Given the description of an element on the screen output the (x, y) to click on. 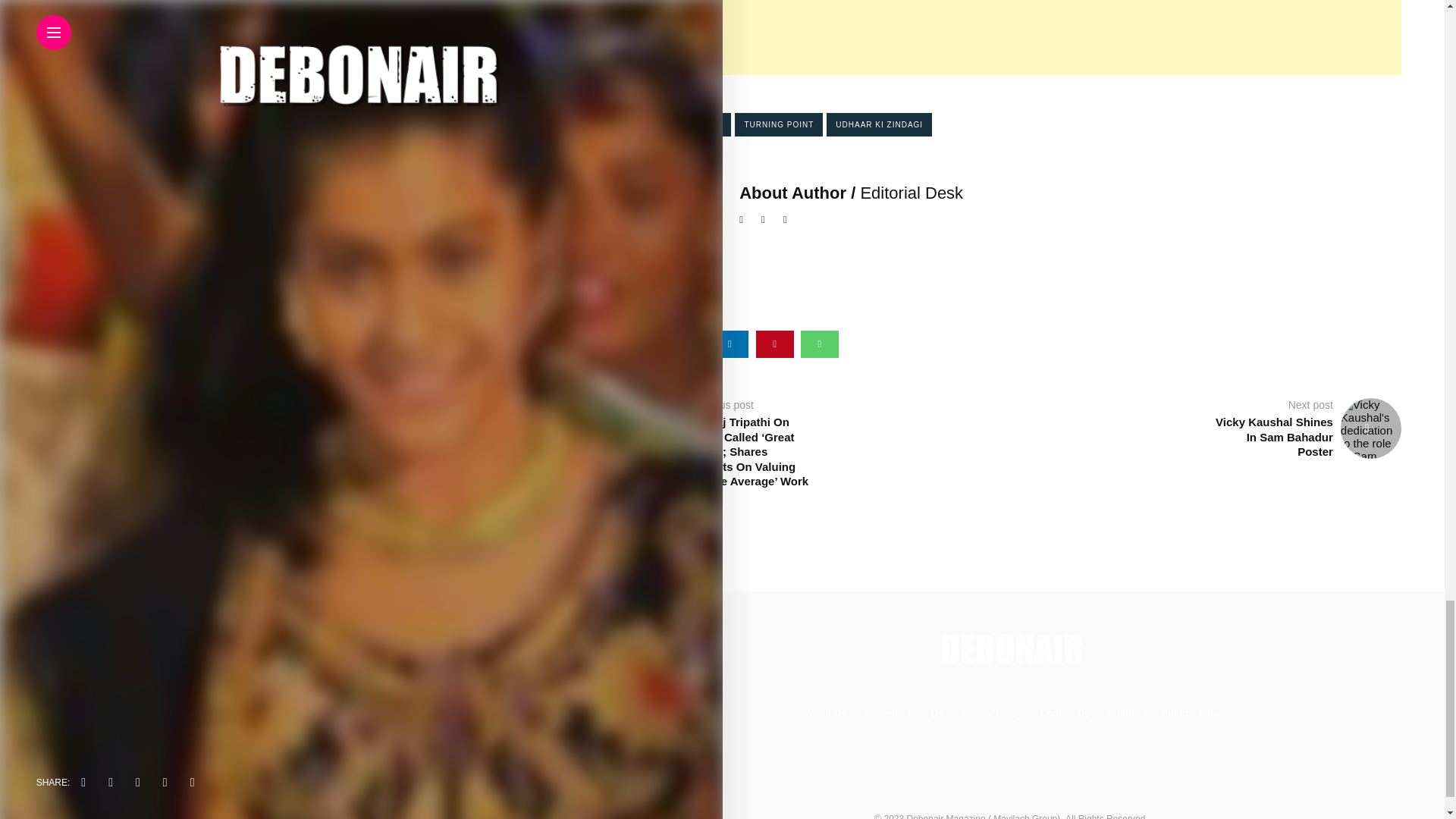
Advertisement (946, 37)
KAJOL (708, 124)
29 YEARS (651, 124)
